Given the description of an element on the screen output the (x, y) to click on. 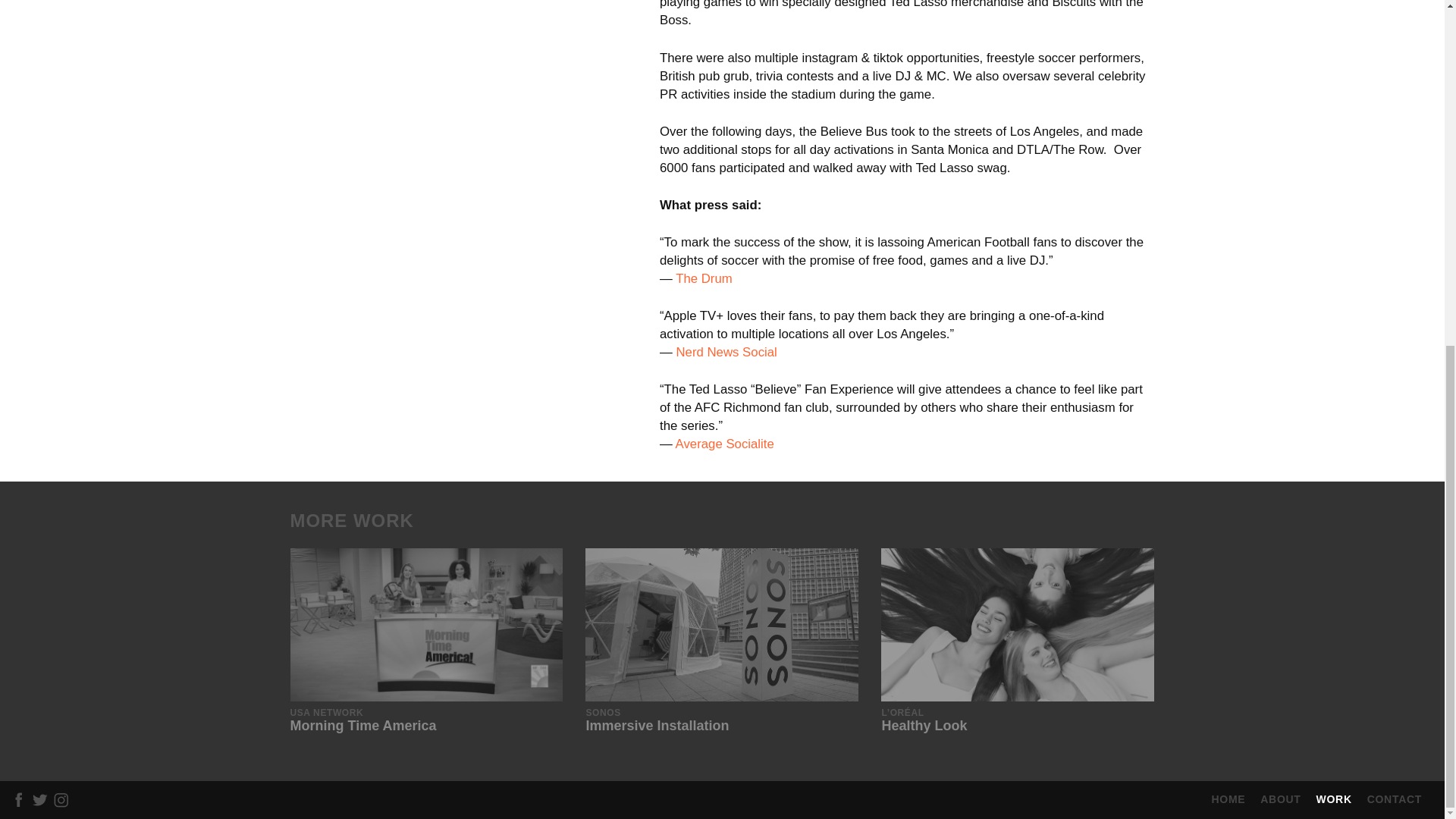
Twitter (42, 799)
WORK (1334, 799)
ABOUT (1280, 799)
Instagram (425, 641)
The Drum (63, 799)
Average Socialite (703, 278)
Nerd News Social (722, 641)
Facebook (724, 443)
